Given the description of an element on the screen output the (x, y) to click on. 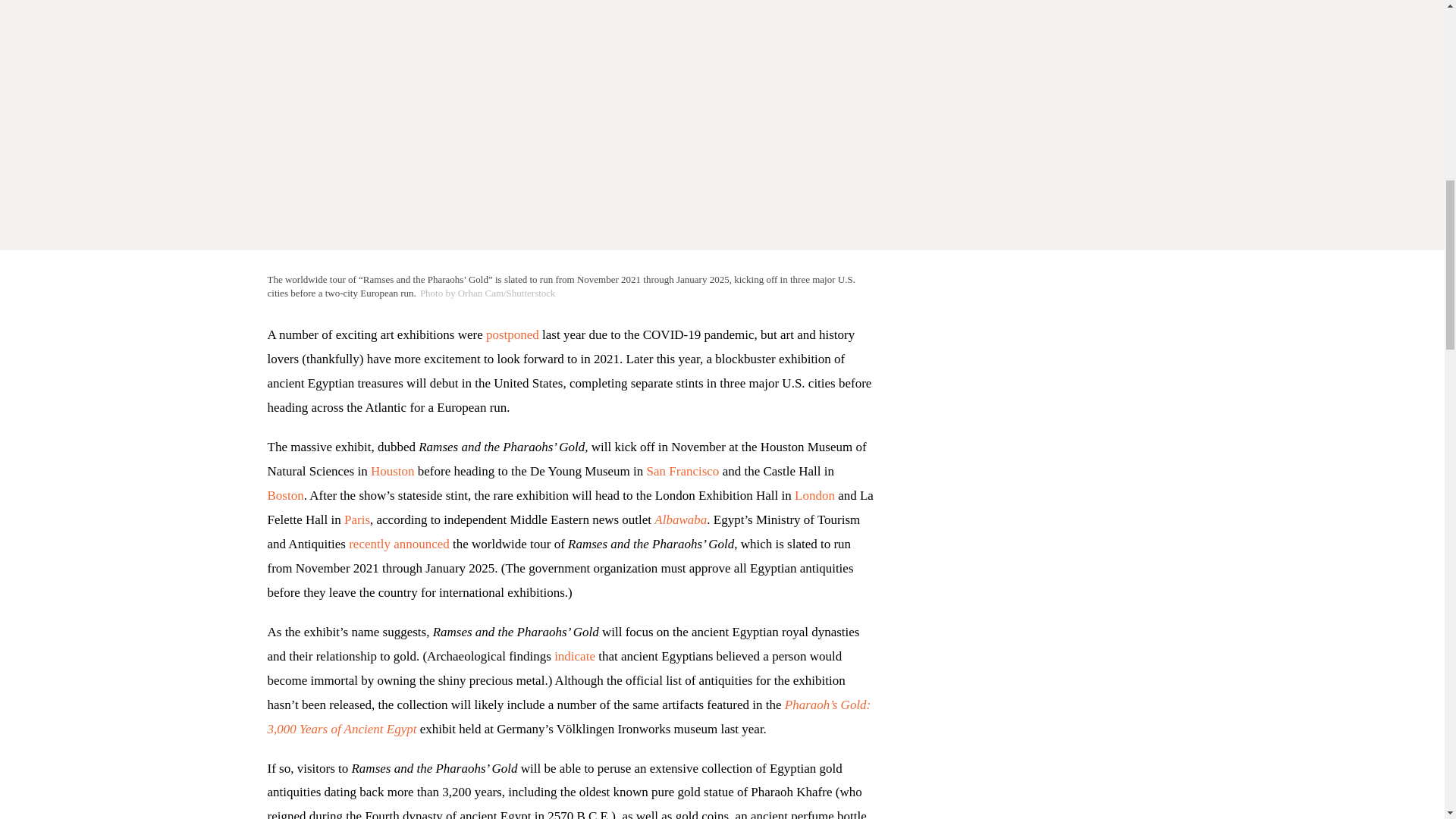
3rd party ad content (1055, 456)
